Given the description of an element on the screen output the (x, y) to click on. 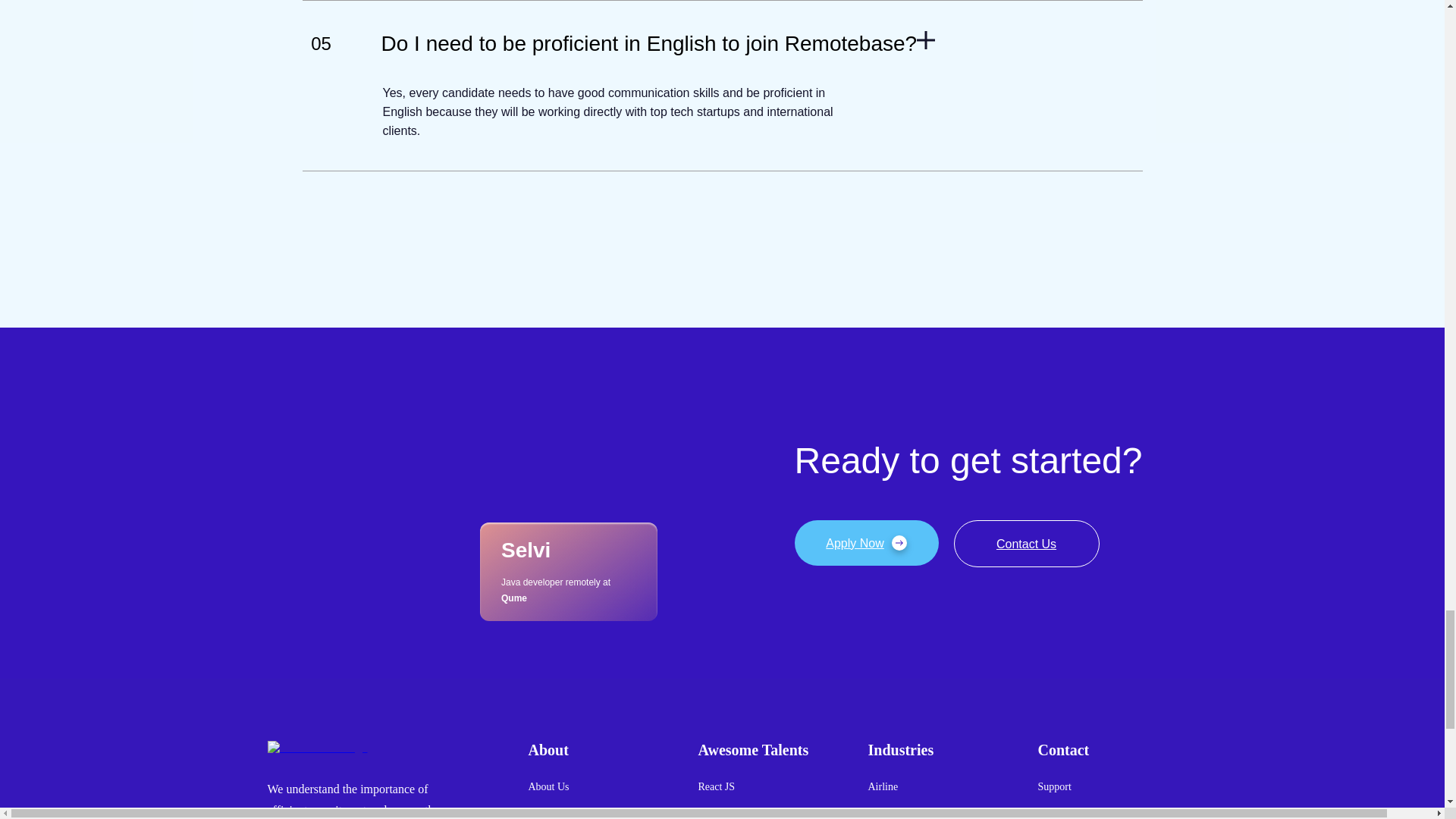
Podcast (543, 816)
React JS (716, 786)
Contact Us (1026, 543)
About Us (548, 786)
Node JS (715, 816)
Apply Now (866, 542)
